Given the description of an element on the screen output the (x, y) to click on. 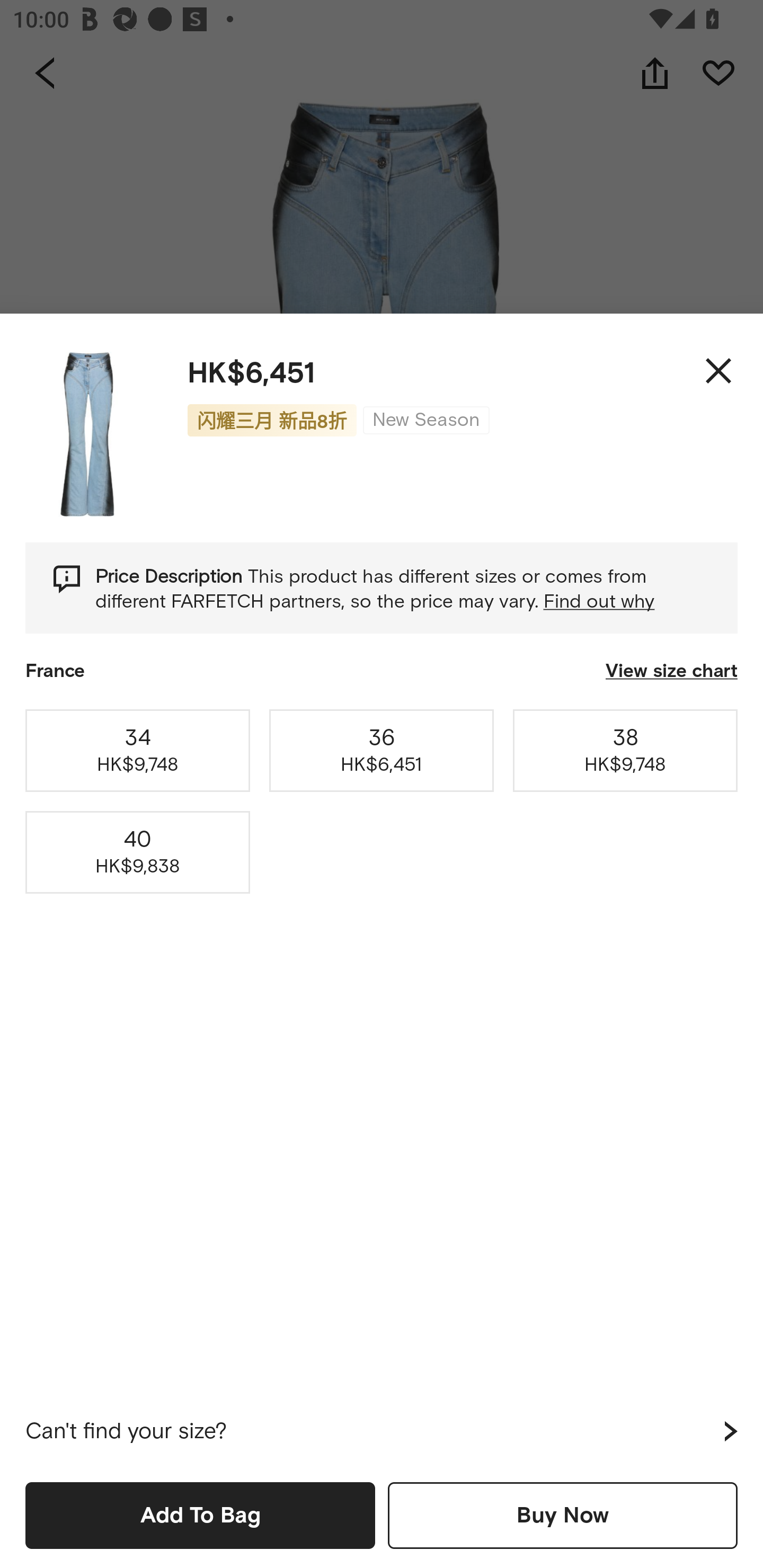
闪耀三月 新品8折 (271, 419)
34 HK$9,748 (137, 749)
36 HK$6,451 (381, 749)
38 HK$9,748 (624, 749)
40 HK$9,838 (137, 851)
Can't find your size? (381, 1431)
Add To Bag (200, 1515)
Buy Now (562, 1515)
